Given the description of an element on the screen output the (x, y) to click on. 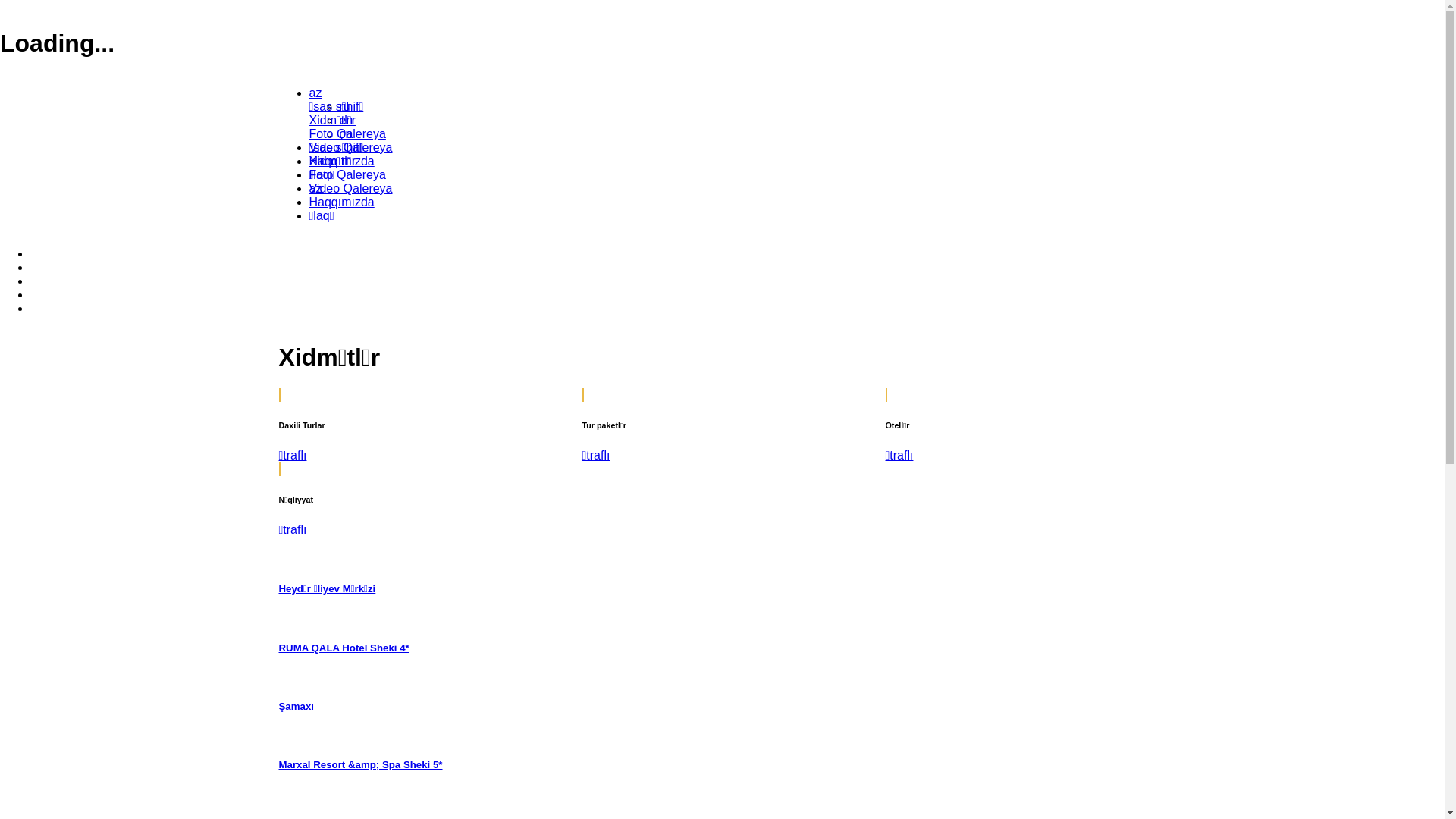
cn Element type: text (345, 133)
en Element type: text (346, 119)
Video Qalereya Element type: text (350, 188)
Foto Qalereya Element type: text (347, 133)
Video Qalereya Element type: text (350, 147)
az Element type: text (315, 188)
Foto Qalereya Element type: text (347, 174)
az Element type: text (315, 92)
Marxal Resort &amp; Spa Sheki 5* Element type: text (360, 764)
RUMA QALA Hotel Sheki 4* Element type: text (344, 647)
ru Element type: text (344, 106)
